Given the description of an element on the screen output the (x, y) to click on. 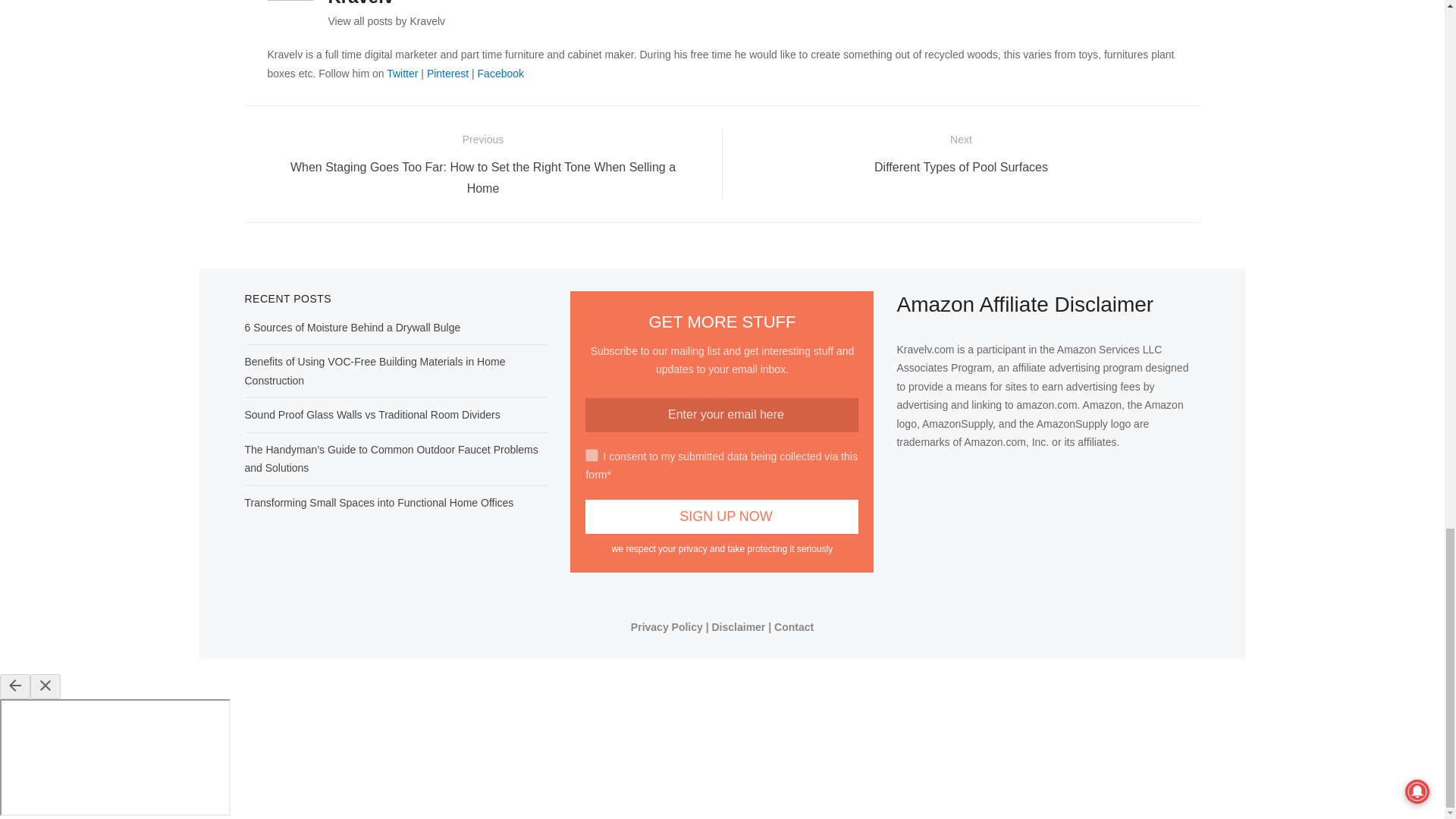
on (591, 454)
Pinterest (447, 73)
Twitter (402, 73)
Sign Up Now (722, 516)
View all posts by Kravelv (386, 21)
